Given the description of an element on the screen output the (x, y) to click on. 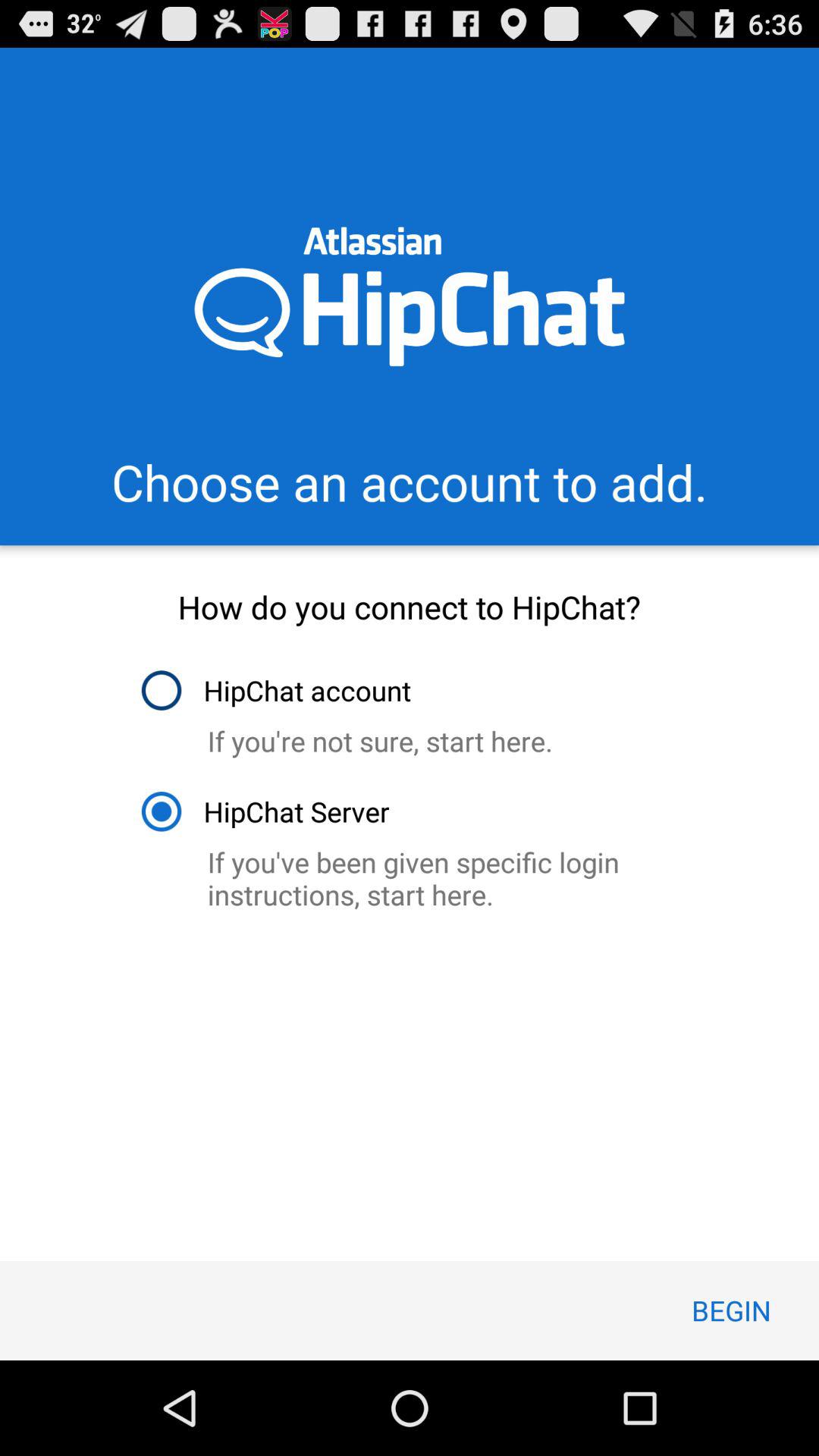
select icon below how do you (275, 690)
